Given the description of an element on the screen output the (x, y) to click on. 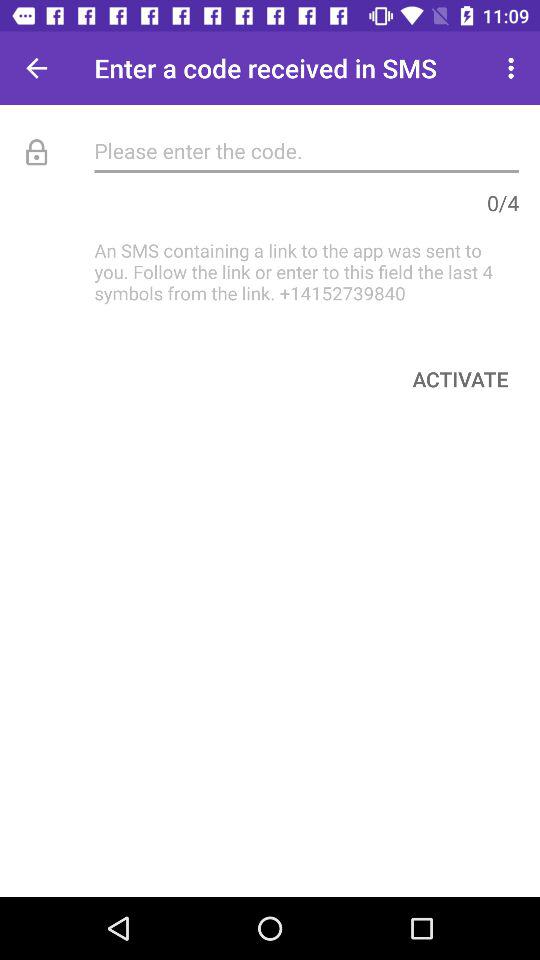
enter a code (306, 150)
